Given the description of an element on the screen output the (x, y) to click on. 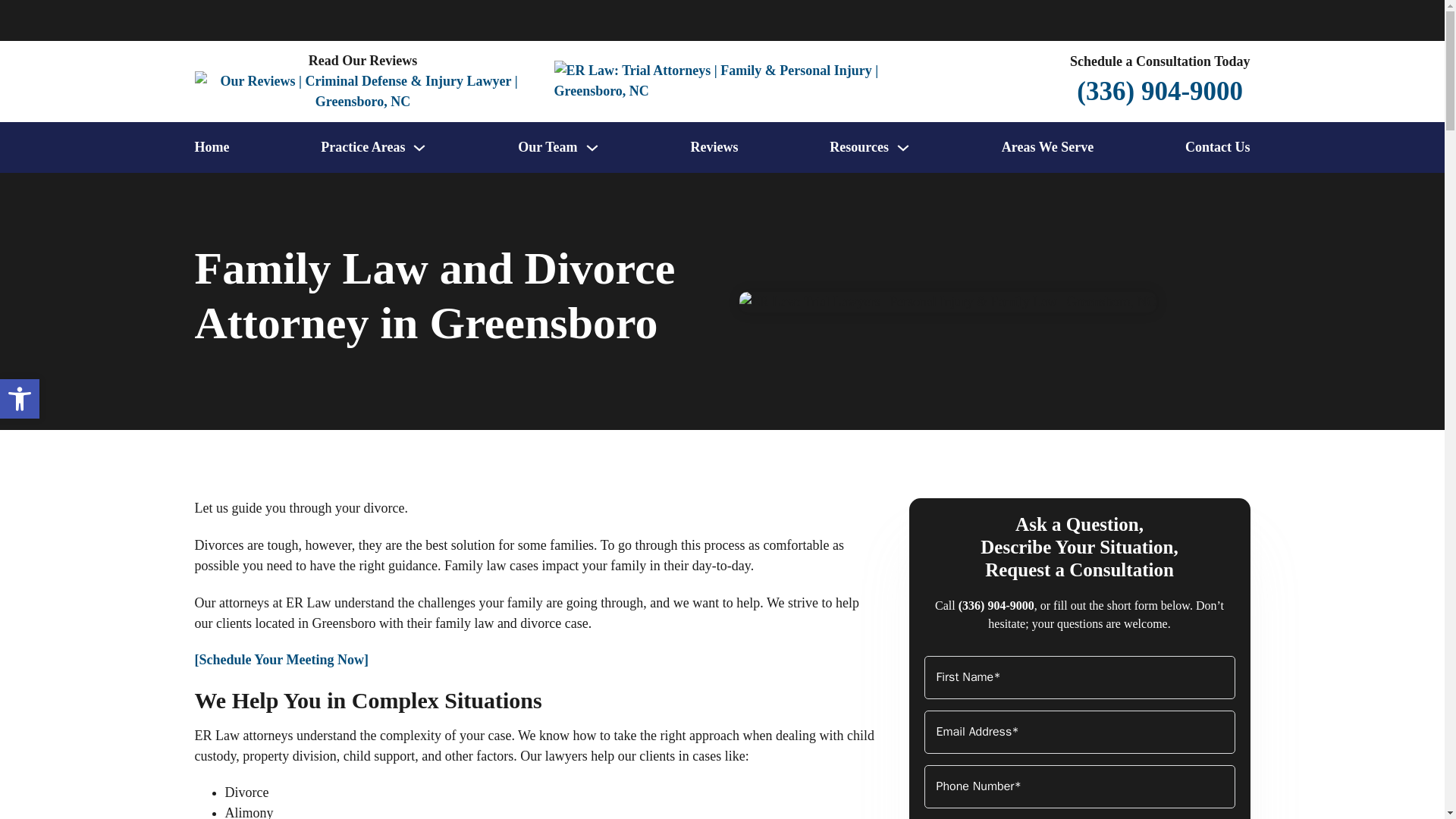
Accessibility Tools (19, 398)
Home (210, 147)
Practice Areas (362, 147)
Accessibility Tools (19, 398)
Read Our Reviews (362, 81)
